Given the description of an element on the screen output the (x, y) to click on. 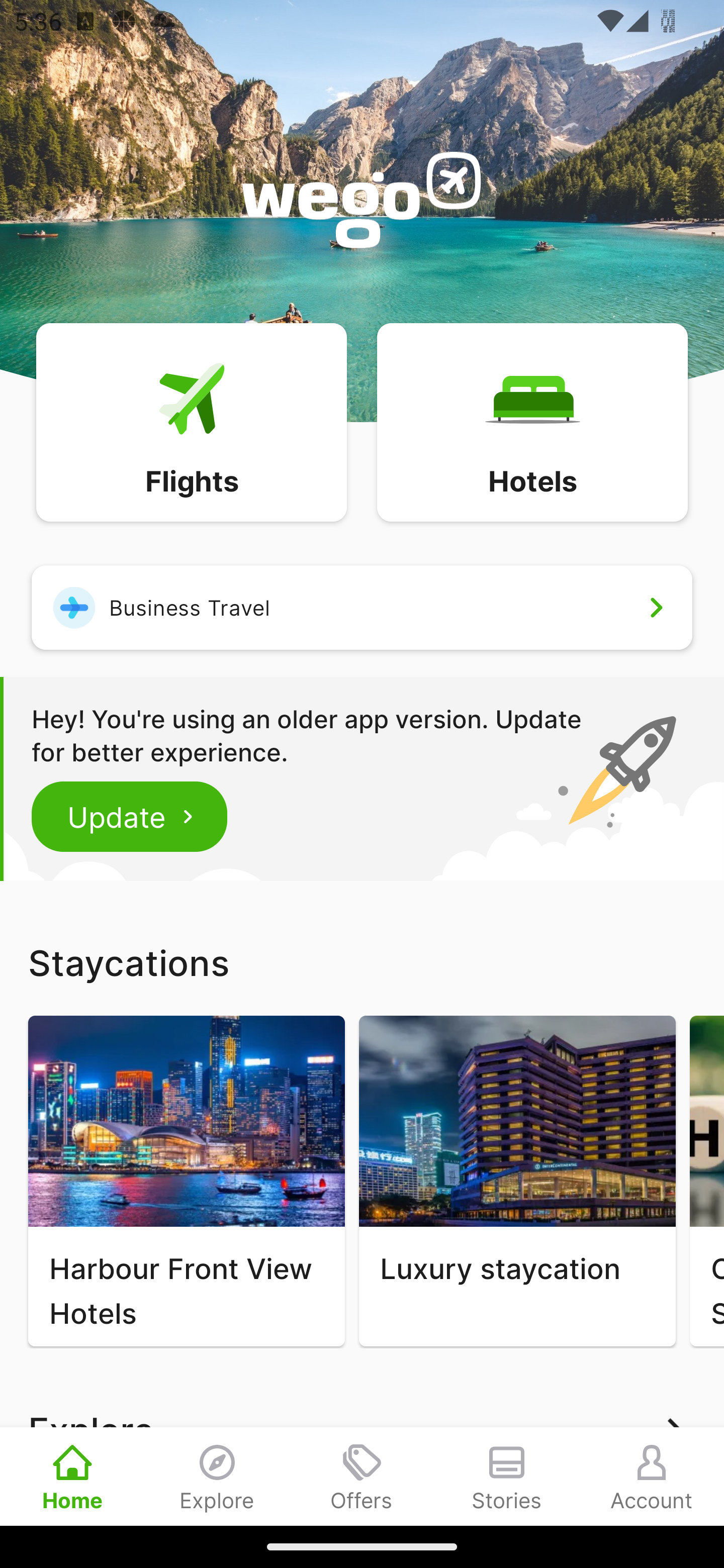
Flights (191, 420)
Hotels (532, 420)
Business Travel (361, 607)
Update (129, 815)
Staycations (362, 962)
Harbour Front View Hotels (186, 1181)
Luxury staycation (517, 1181)
Explore (216, 1475)
Offers (361, 1475)
Stories (506, 1475)
Account (651, 1475)
